Given the description of an element on the screen output the (x, y) to click on. 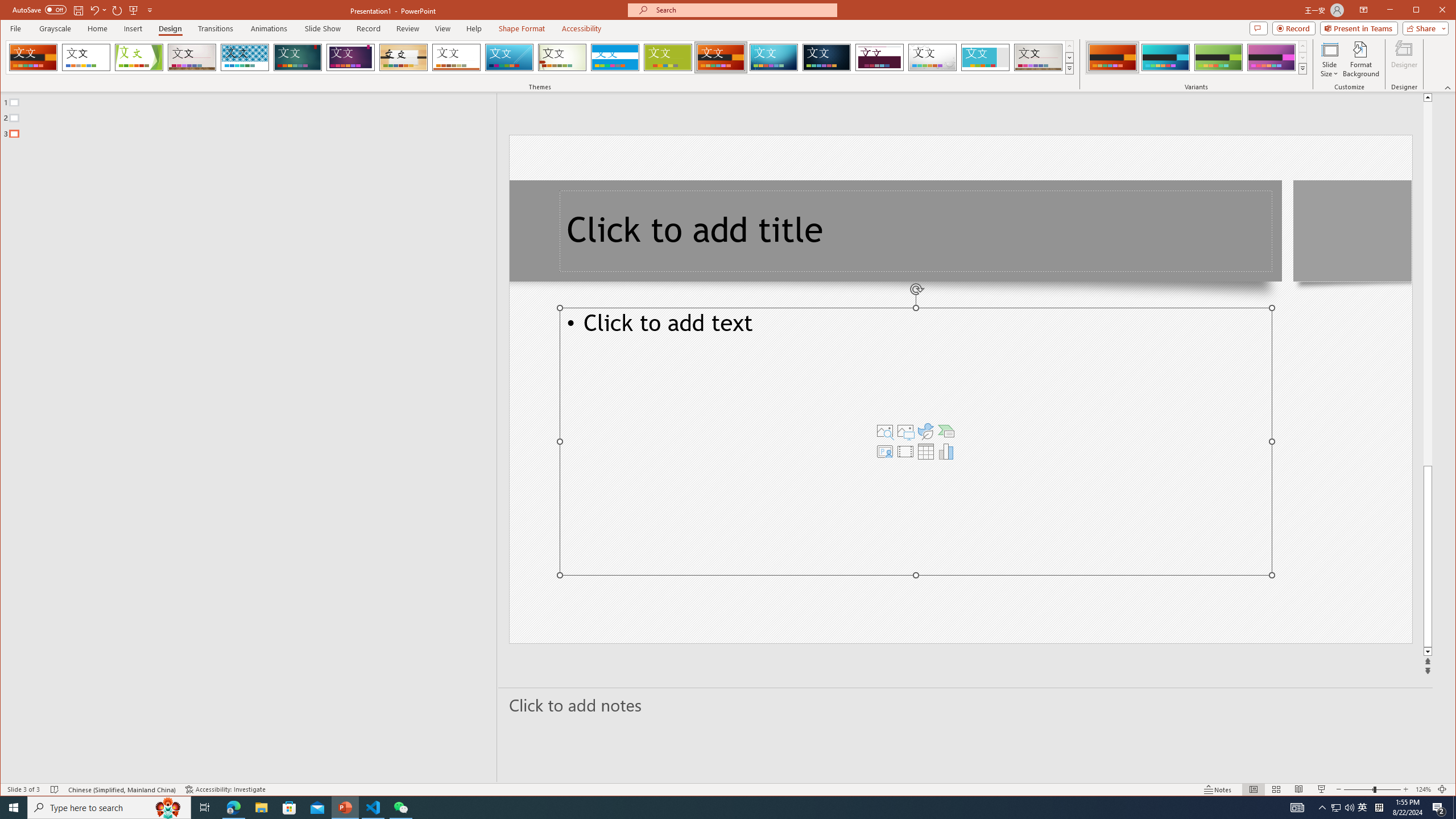
Themes (1069, 68)
Zoom 124% (1422, 789)
Organic (403, 57)
Outline (252, 115)
Slice (509, 57)
Pictures (905, 430)
